Given the description of an element on the screen output the (x, y) to click on. 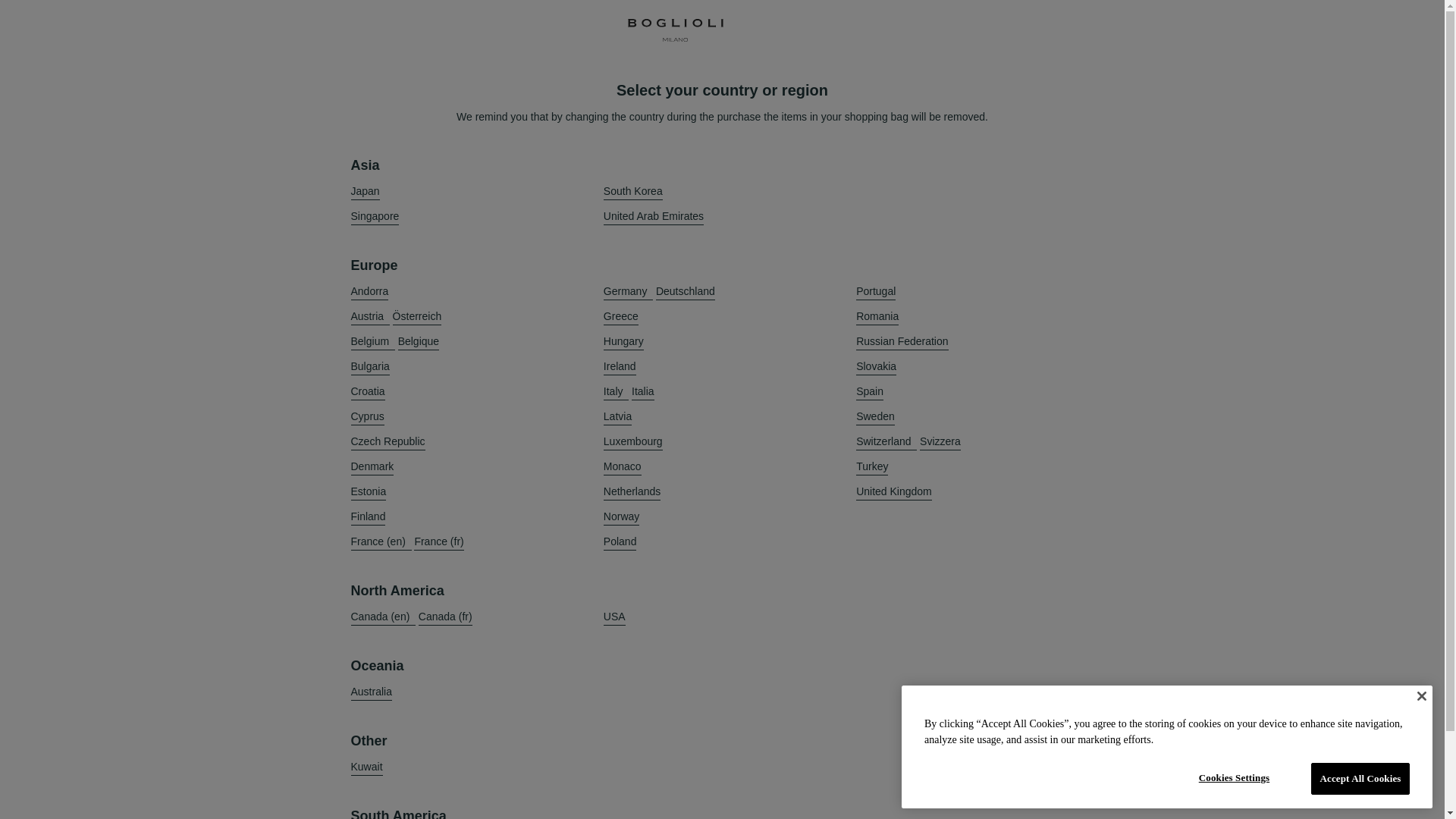
Norway (621, 516)
Italy (616, 391)
Deutschland (685, 291)
Bulgaria (369, 366)
Germany (628, 291)
Singapore (374, 216)
Croatia (367, 391)
Greece (621, 316)
Italia (642, 391)
Romania (877, 316)
